Given the description of an element on the screen output the (x, y) to click on. 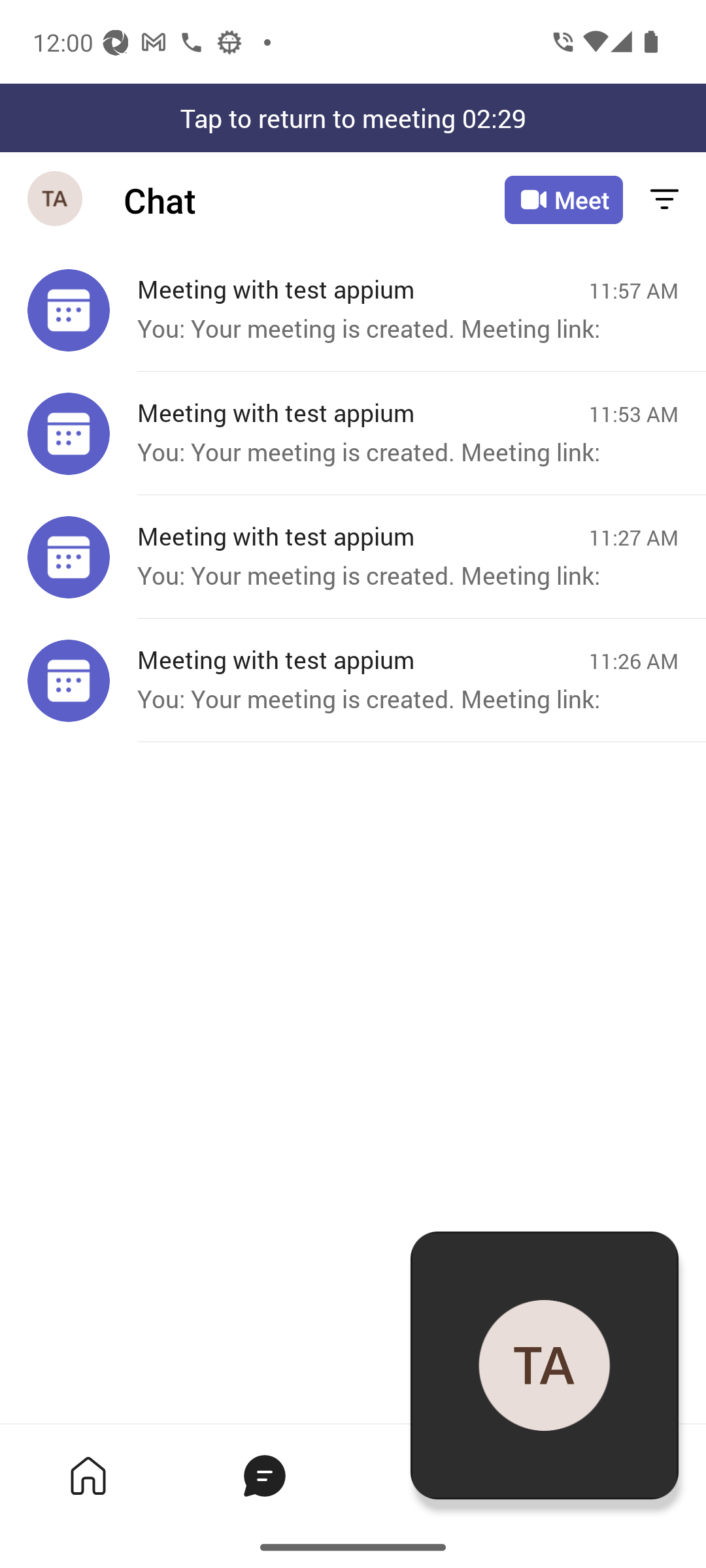
Tap to return to meeting 02:29 (353, 117)
Filter chat messages (664, 199)
Navigation (56, 199)
Meet Meet now or join with an ID (563, 199)
Home tab,1 of 4, not selected (88, 1475)
Chat tab, 2 of 4 (264, 1475)
